Given the description of an element on the screen output the (x, y) to click on. 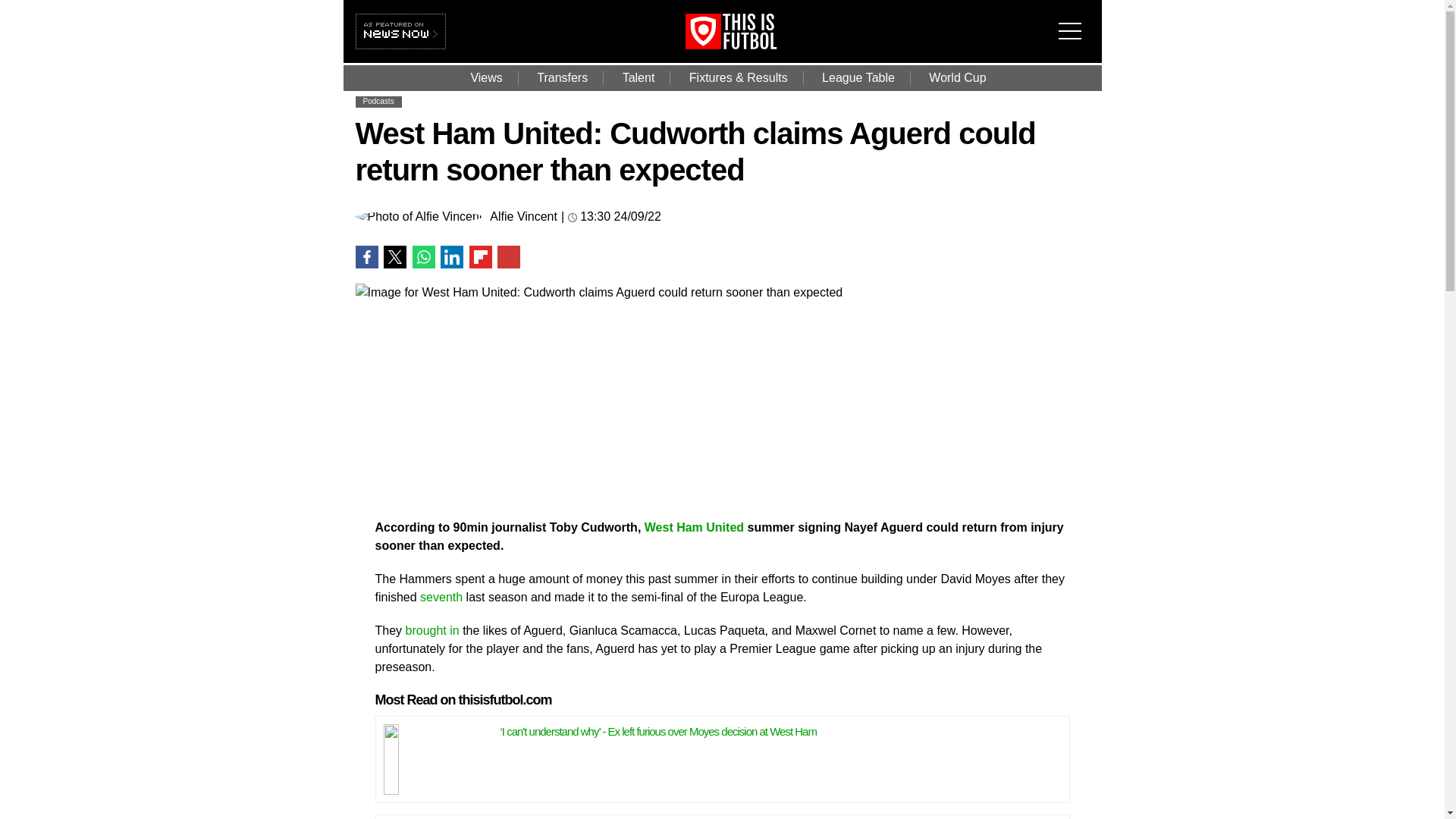
share on WhatsApp (423, 256)
share on Facebook (366, 256)
West Ham United (694, 526)
brought in (433, 629)
World Cup (957, 78)
Talent (638, 78)
League Table (858, 78)
share on LinkedIn (452, 256)
share on Email (508, 256)
Views (485, 78)
Back to the homepage (751, 44)
Podcasts (377, 101)
share on Twitter (395, 256)
Transfers (561, 78)
Menu (1074, 21)
